Given the description of an element on the screen output the (x, y) to click on. 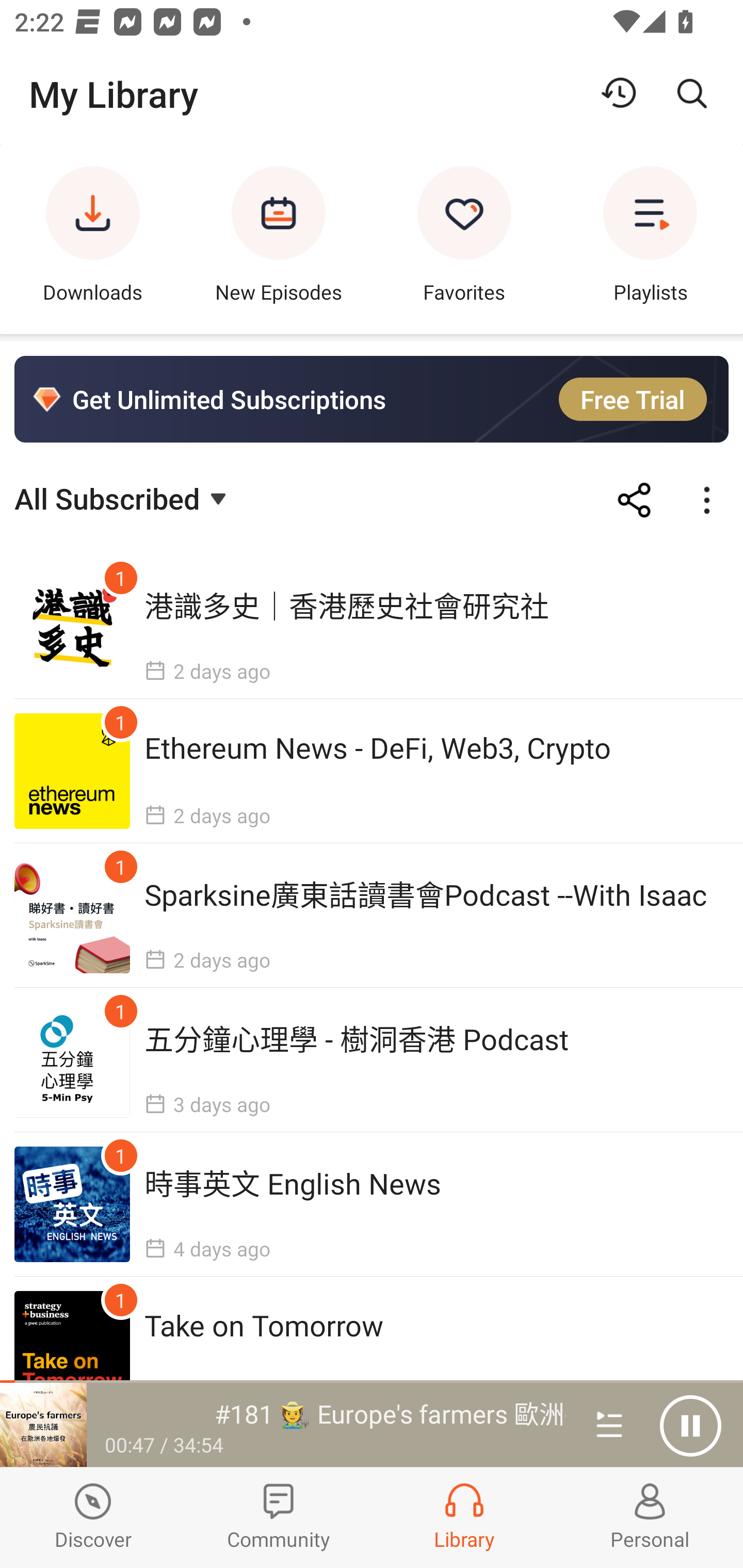
Downloads (92, 238)
New Episodes (278, 238)
Favorites (464, 238)
Playlists (650, 238)
Get Unlimited Subscriptions Free Trial (371, 398)
Free Trial (632, 398)
All Subscribed (123, 497)
港識多史｜香港歷史社會研究社 1 港識多史｜香港歷史社會研究社  2 days ago (371, 627)
時事英文 English News 1 時事英文 English News  4 days ago (371, 1204)
Take on Tomorrow 1 Take on Tomorrow  Sep 18 2023 (371, 1348)
Pause (690, 1425)
Discover (92, 1517)
Community (278, 1517)
Library (464, 1517)
Profiles and Settings Personal (650, 1517)
